Given the description of an element on the screen output the (x, y) to click on. 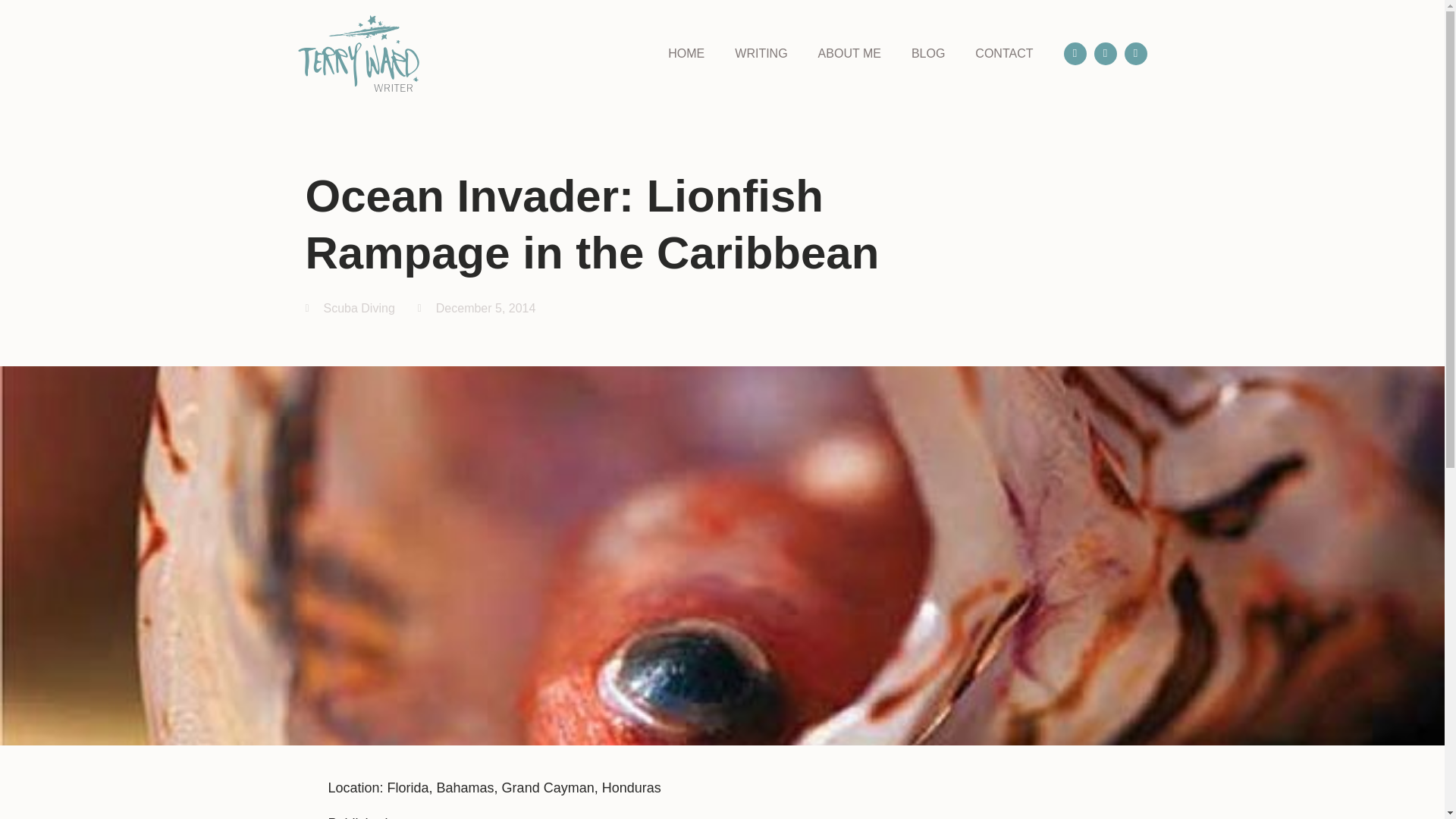
WRITING (761, 53)
Scuba Diving Magazine (459, 818)
BLOG (927, 53)
December 5, 2014 (476, 308)
Scuba Diving (358, 308)
ABOUT ME (849, 53)
CONTACT (1003, 53)
HOME (686, 53)
